Given the description of an element on the screen output the (x, y) to click on. 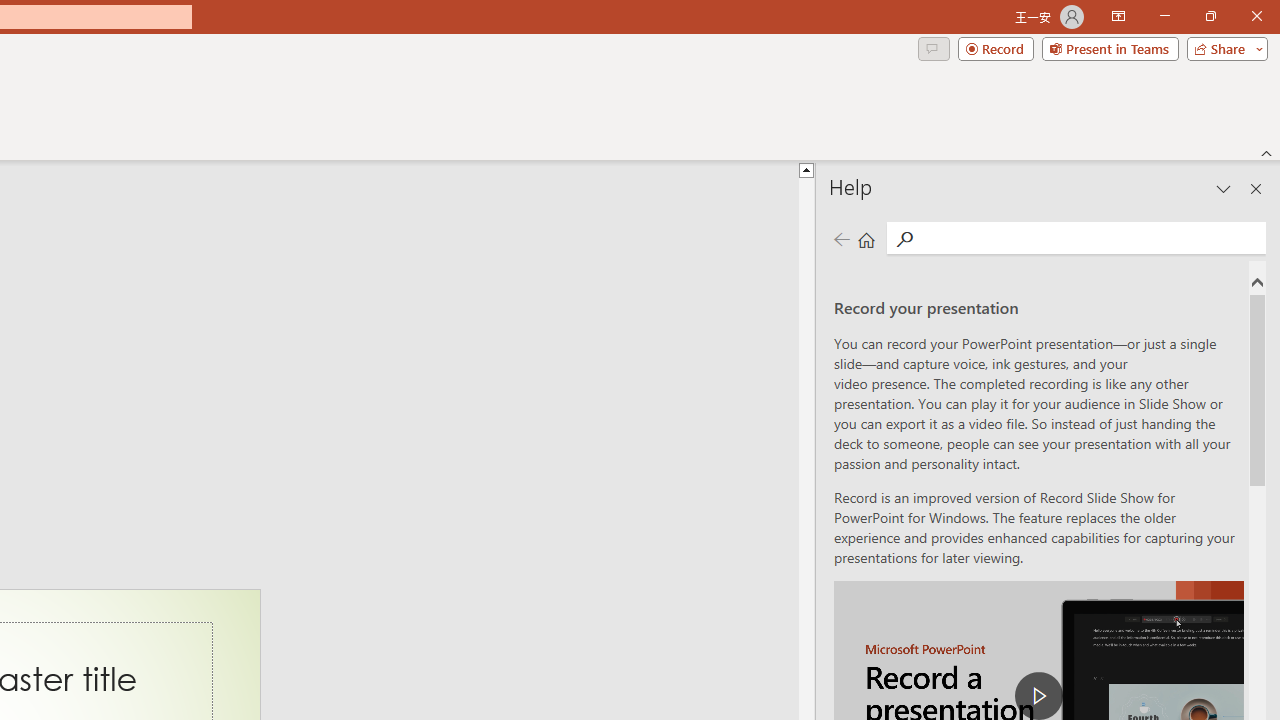
Line up (806, 169)
